Given the description of an element on the screen output the (x, y) to click on. 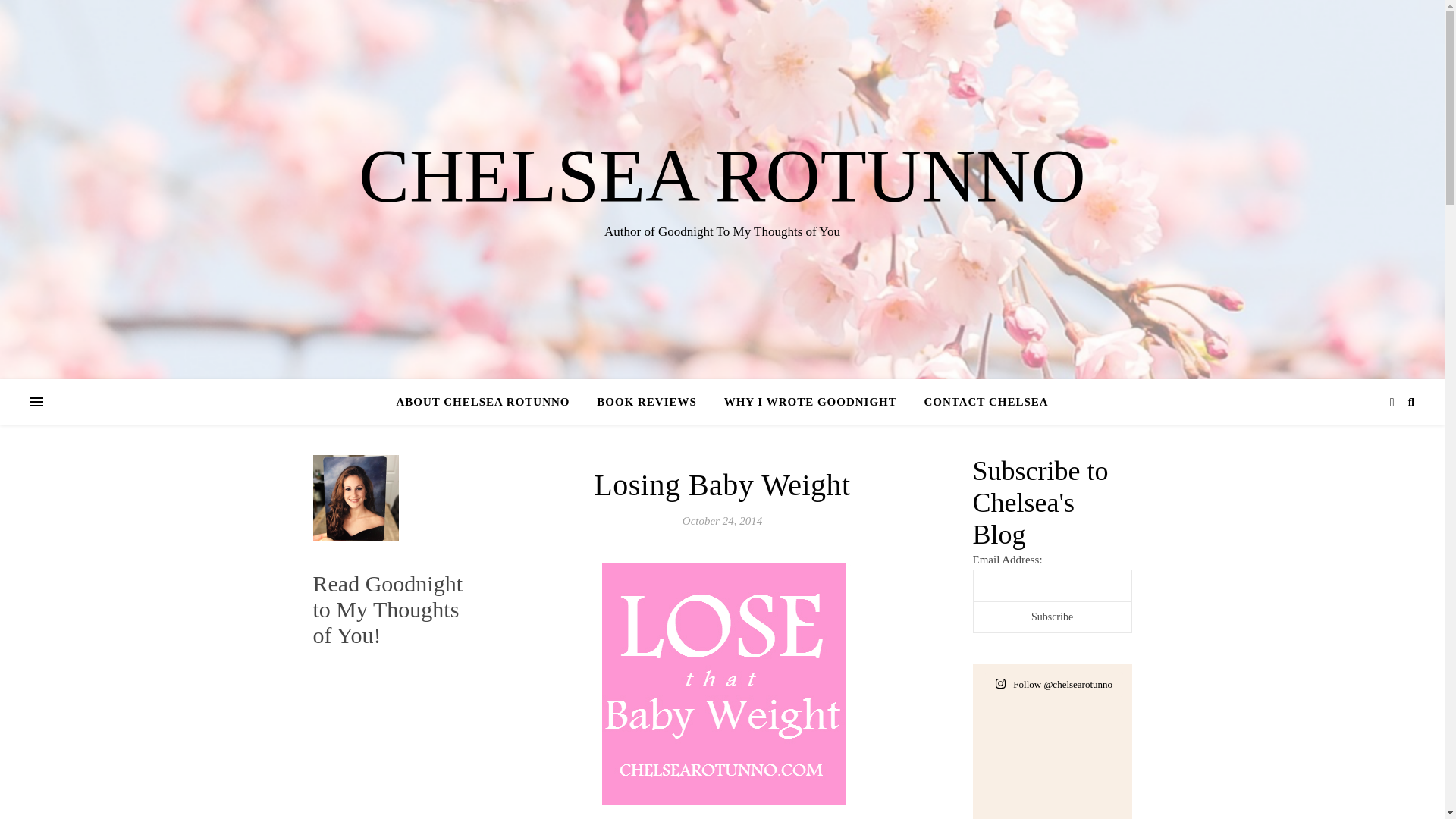
ABOUT CHELSEA ROTUNNO (488, 402)
BOOK REVIEWS (647, 402)
Read Goodnight to My Thoughts of You! (387, 608)
Subscribe (1051, 617)
Losing Baby Weight (722, 484)
CONTACT CHELSEA (980, 402)
Subscribe (1051, 617)
WHY I WROTE GOODNIGHT (809, 402)
